Given the description of an element on the screen output the (x, y) to click on. 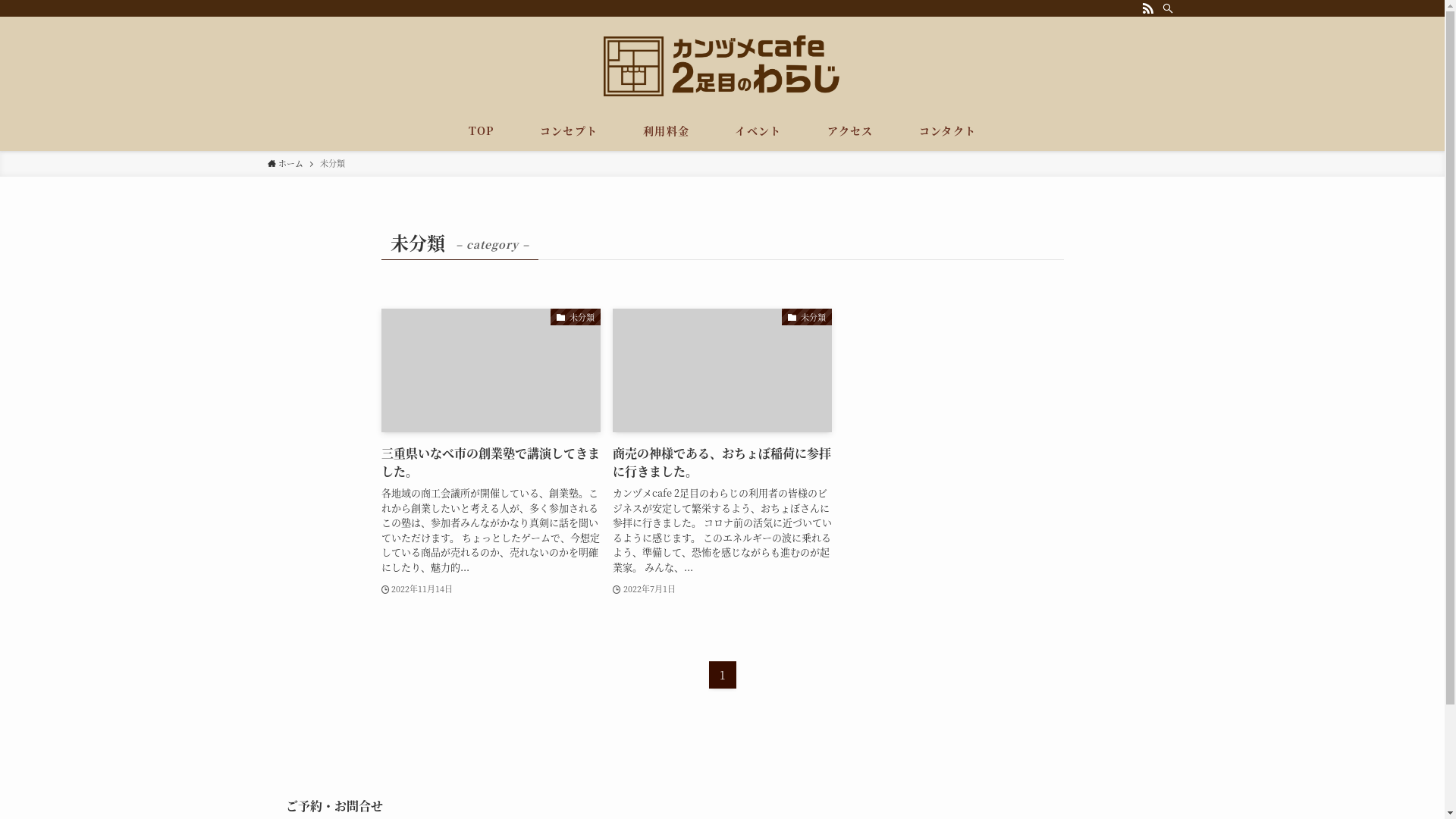
TOP Element type: text (481, 129)
search Element type: text (921, 421)
